Given the description of an element on the screen output the (x, y) to click on. 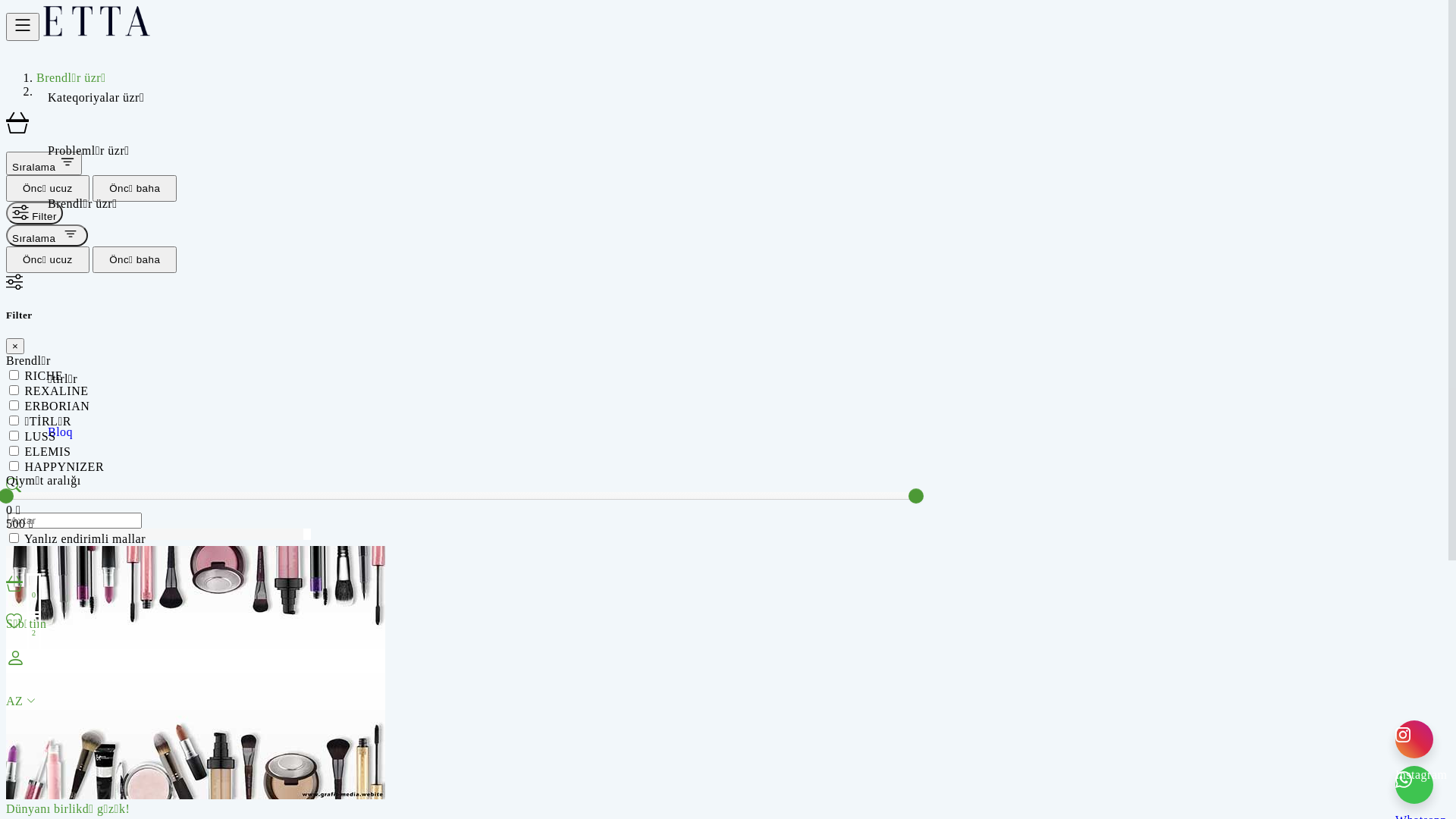
Instagram Element type: text (1414, 739)
Bloq Element type: text (60, 431)
Whatsapp Element type: text (1414, 784)
Filter Element type: text (34, 212)
Etta.az Element type: hover (96, 31)
